Given the description of an element on the screen output the (x, y) to click on. 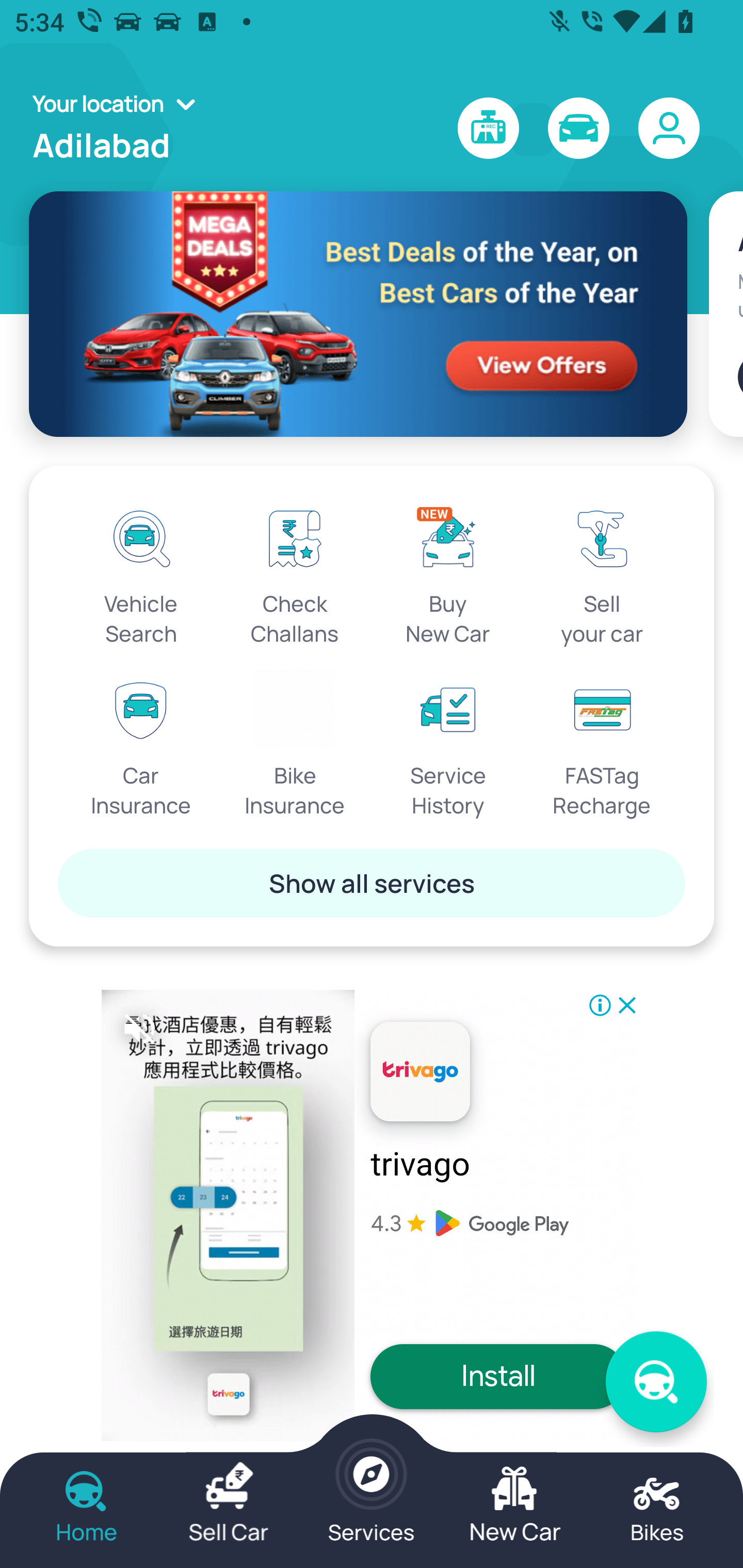
Your location Adilabad (119, 128)
Vehicle
Search (141, 572)
Check
Challans (294, 572)
Buy
New Car (447, 572)
Sell
your car (601, 572)
Car
Insurance (141, 744)
Bike
Insurance (294, 744)
Service
History (447, 744)
FASTag Recharge (601, 744)
Show all services (371, 882)
Install (498, 1376)
